Given the description of an element on the screen output the (x, y) to click on. 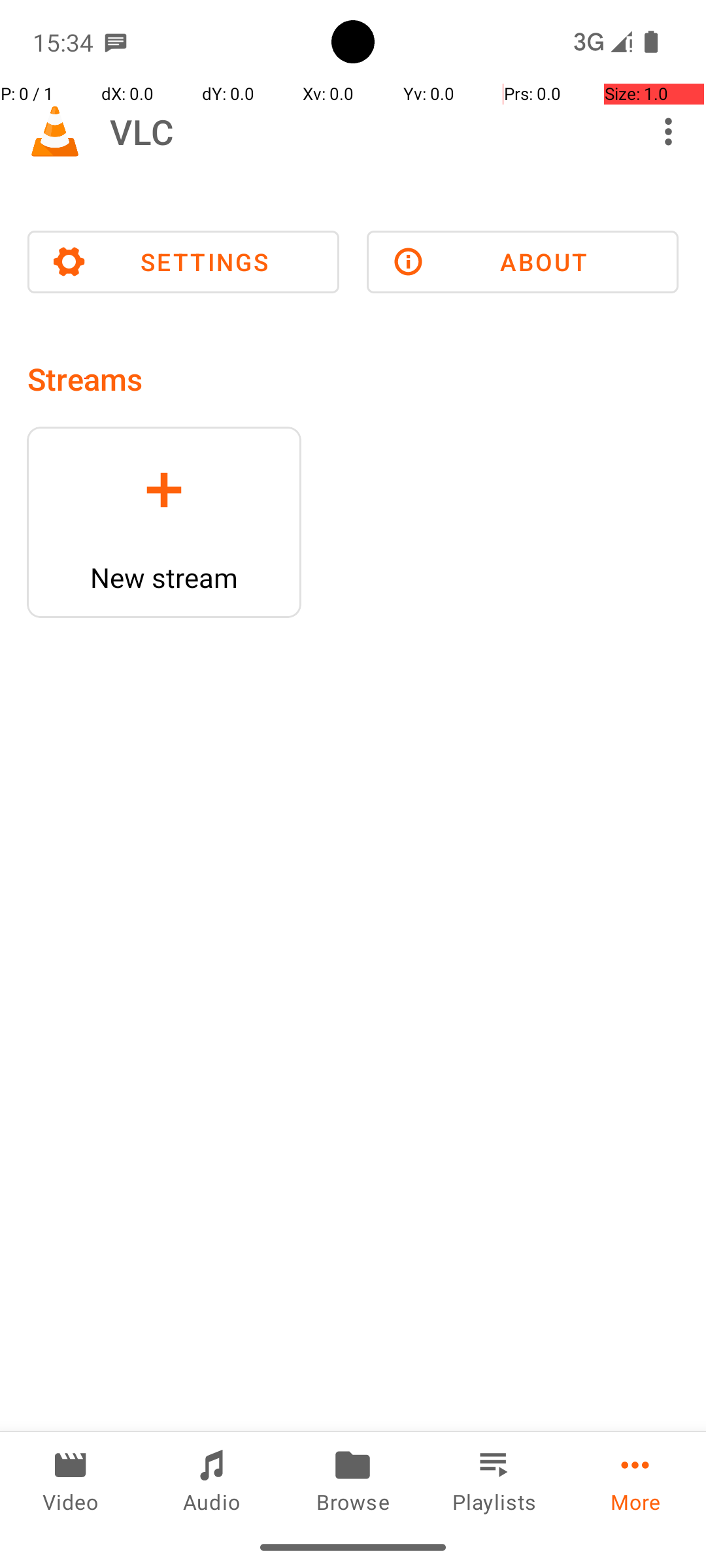
SETTINGS Element type: android.widget.Button (183, 261)
ABOUT Element type: android.widget.Button (522, 261)
Streams Element type: android.widget.TextView (84, 378)
New stream Element type: android.widget.TextView (163, 576)
